Given the description of an element on the screen output the (x, y) to click on. 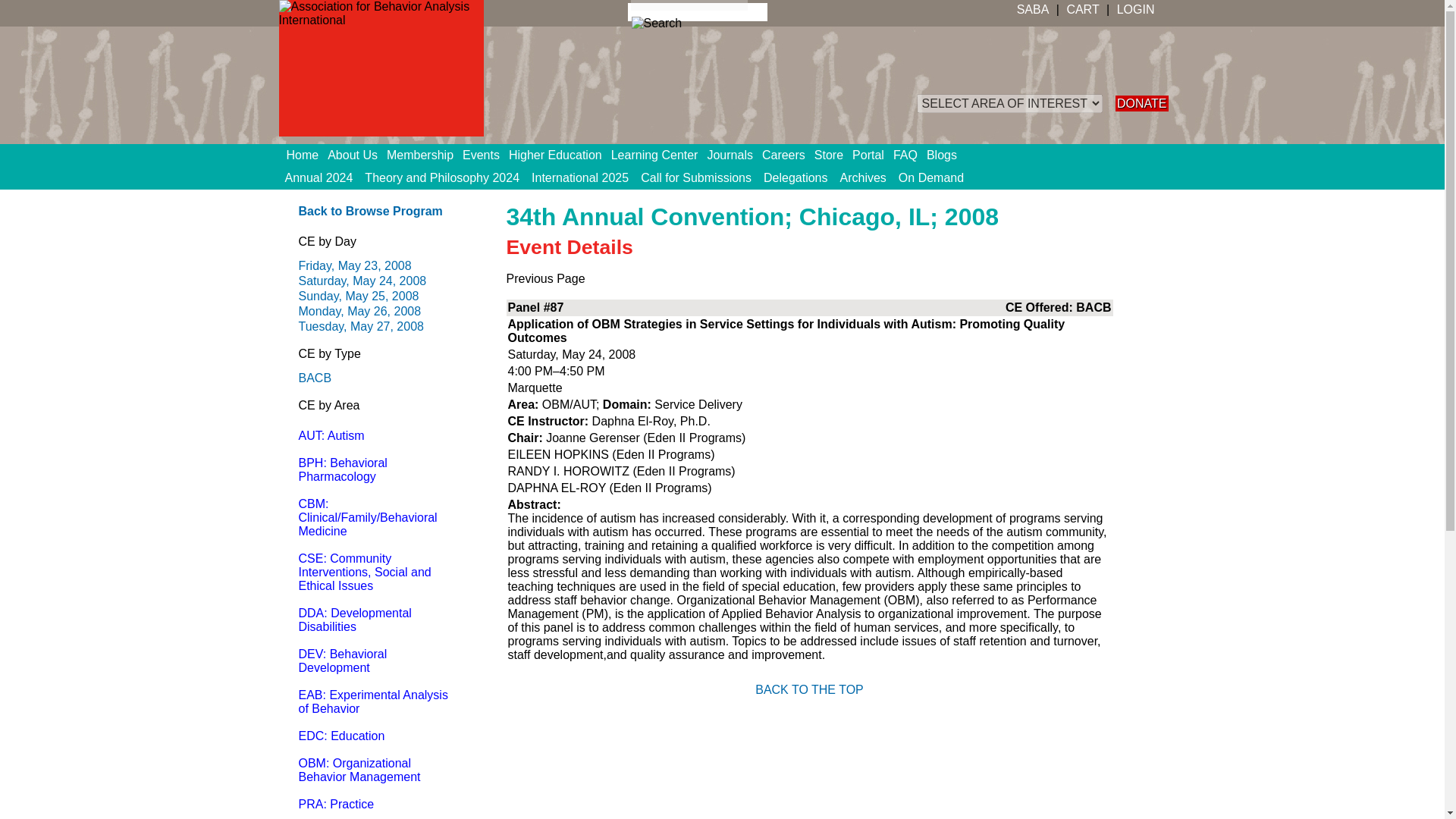
Delegations (795, 178)
Archives (863, 178)
Events (485, 155)
LOGIN (1133, 9)
Annual 2024 (319, 178)
Journals (733, 155)
Membership (425, 155)
Back to Browse Program (370, 210)
Monday, May 26, 2008 (360, 310)
Call for Submissions (695, 178)
Theory and Philosophy 2024 (441, 178)
Blogs (946, 155)
International 2025 (579, 178)
BACB (314, 377)
CART (1082, 9)
